Given the description of an element on the screen output the (x, y) to click on. 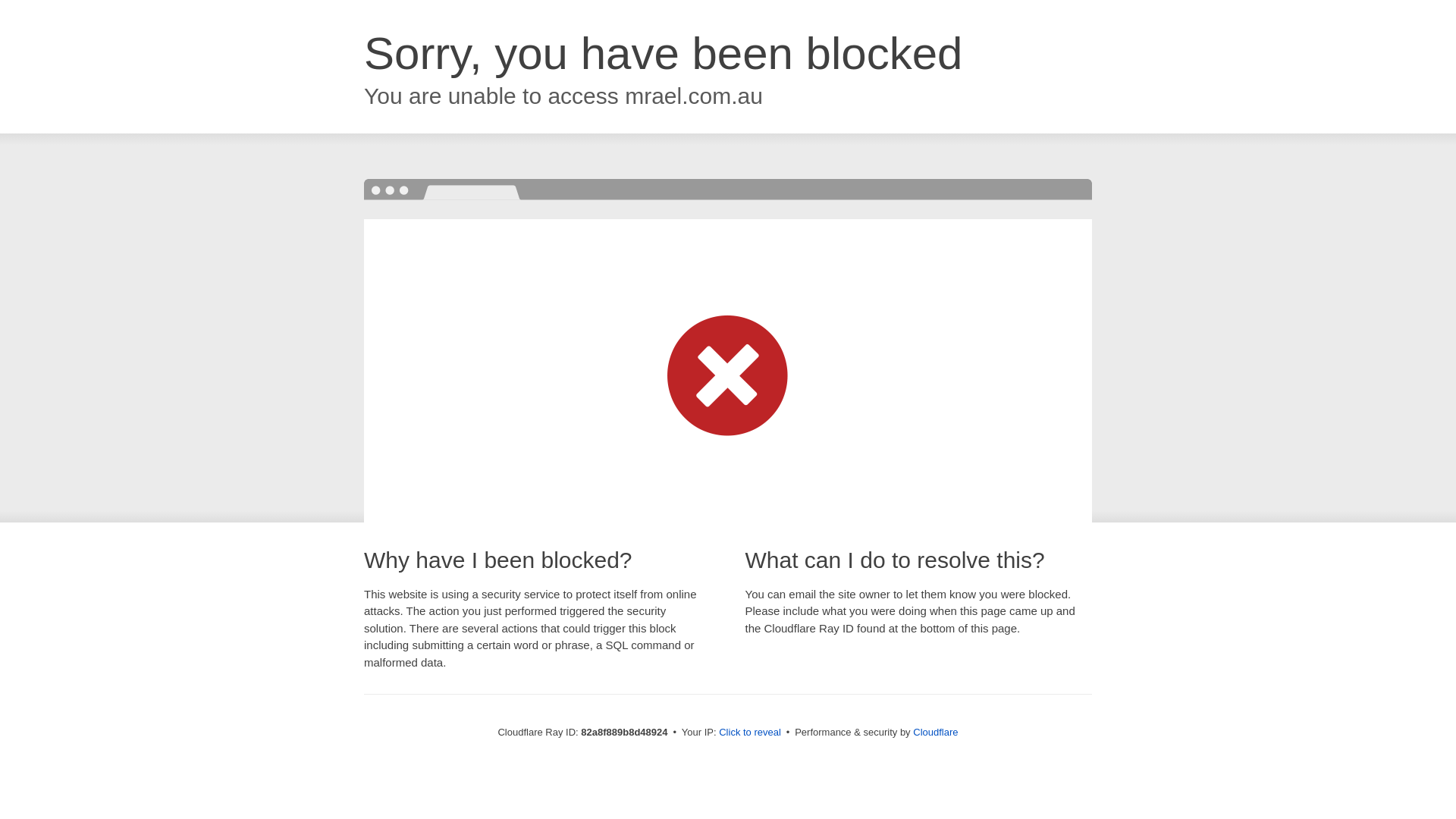
Cloudflare Element type: text (935, 731)
Click to reveal Element type: text (749, 732)
